Given the description of an element on the screen output the (x, y) to click on. 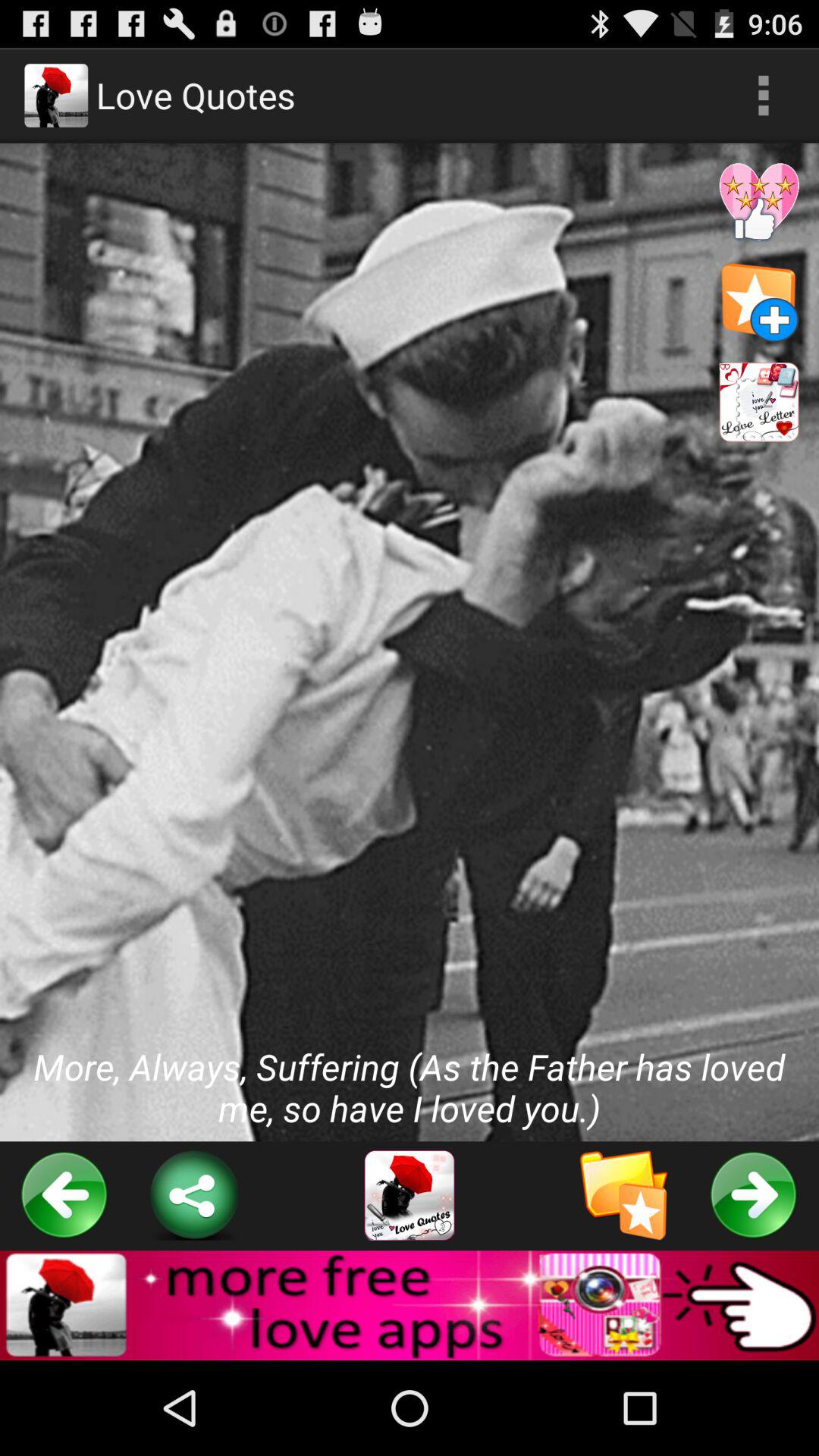
press the icon at the center (409, 642)
